Given the description of an element on the screen output the (x, y) to click on. 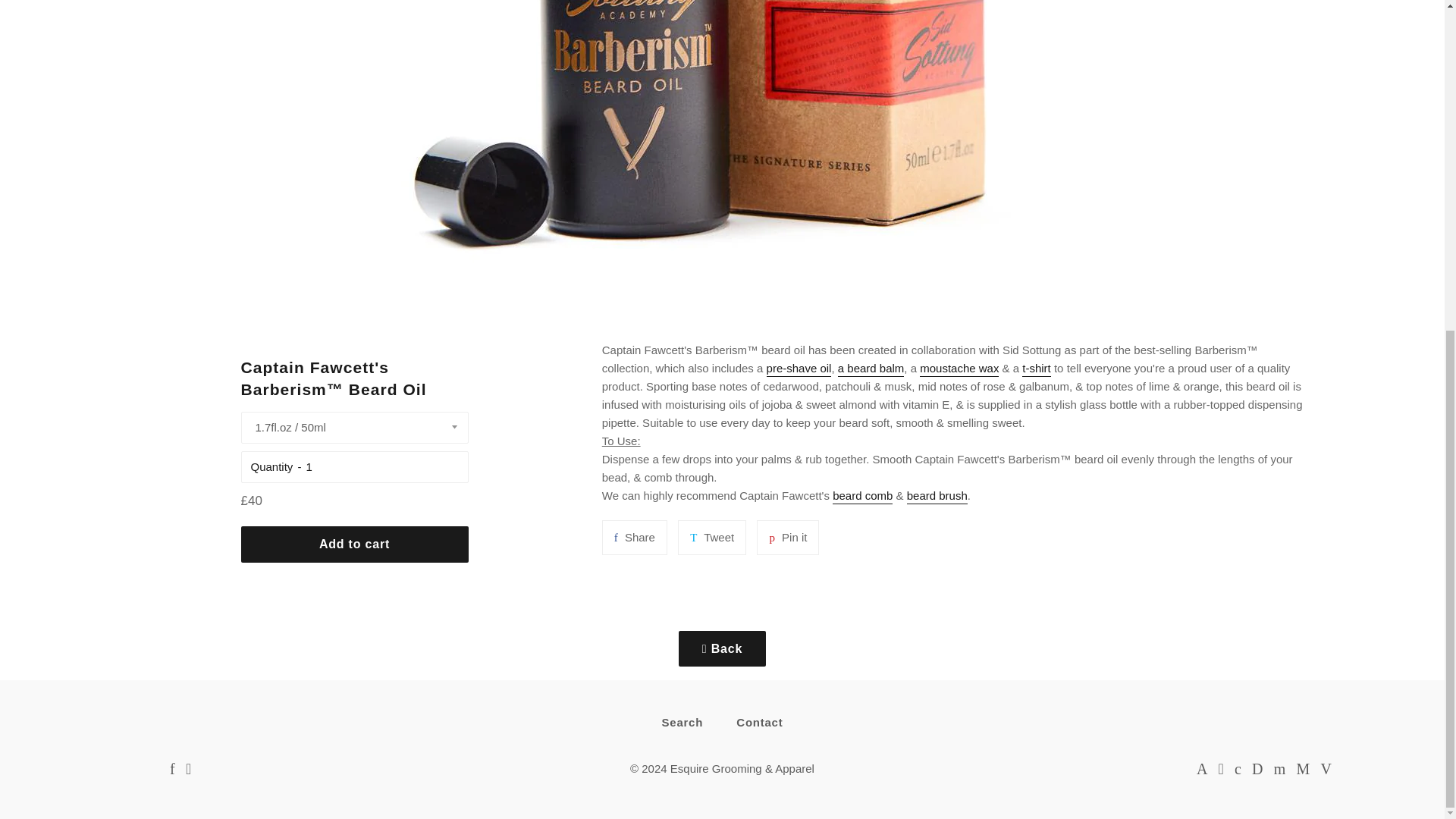
1 (382, 466)
Pin on Pinterest (787, 537)
Share on Facebook (634, 537)
Tweet on Twitter (711, 537)
